Given the description of an element on the screen output the (x, y) to click on. 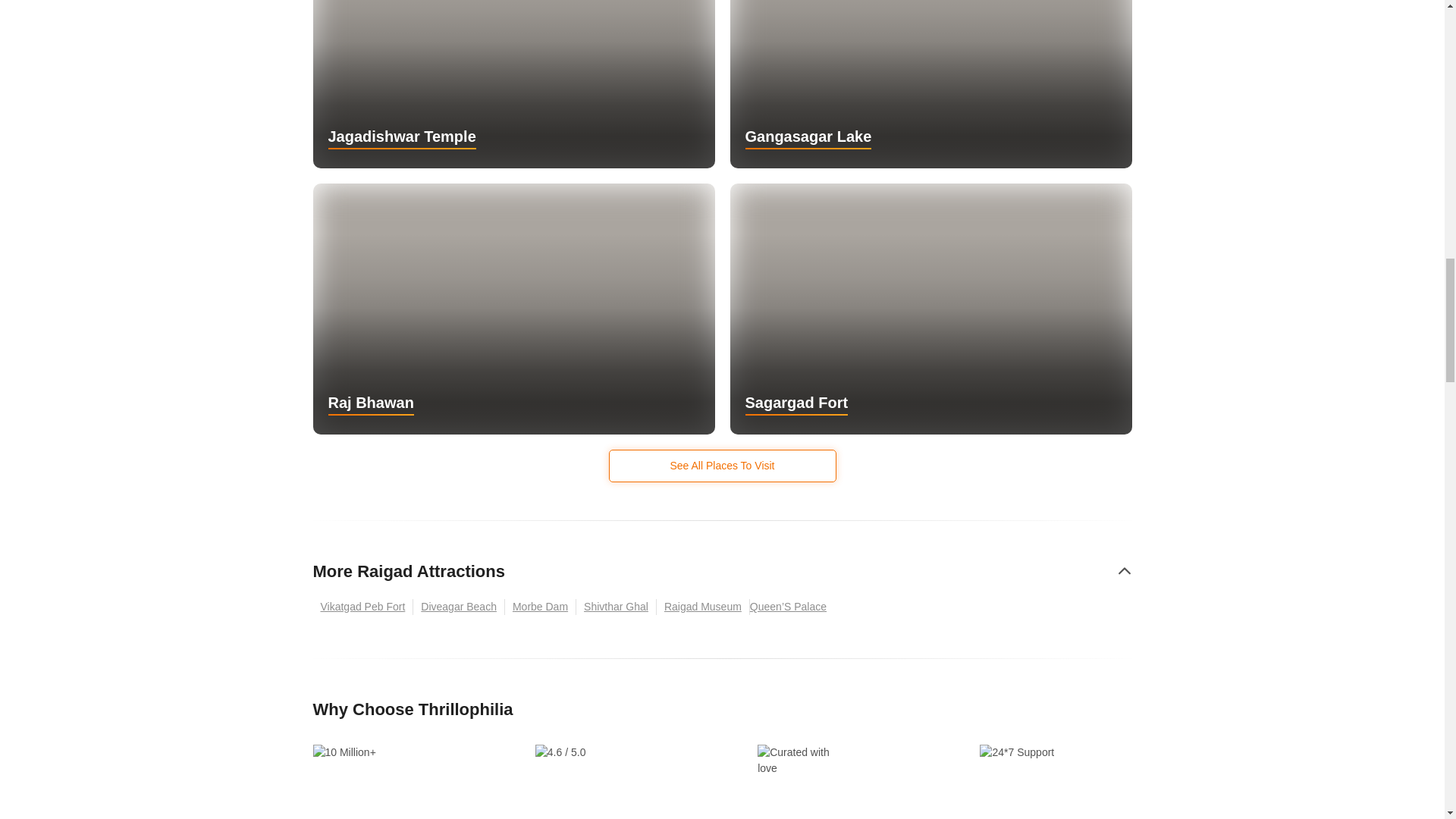
Raigad Museum (702, 606)
Shivthar Ghal (616, 606)
Gangasagar Lake (930, 83)
Diveagar Beach (459, 606)
Jagadishwar Temple (513, 83)
Vikatgad Peb Fort (363, 606)
See All Places To Visit (721, 465)
Morbe Dam (540, 606)
Raj Bhawan (513, 308)
Sagargad Fort (930, 308)
